Given the description of an element on the screen output the (x, y) to click on. 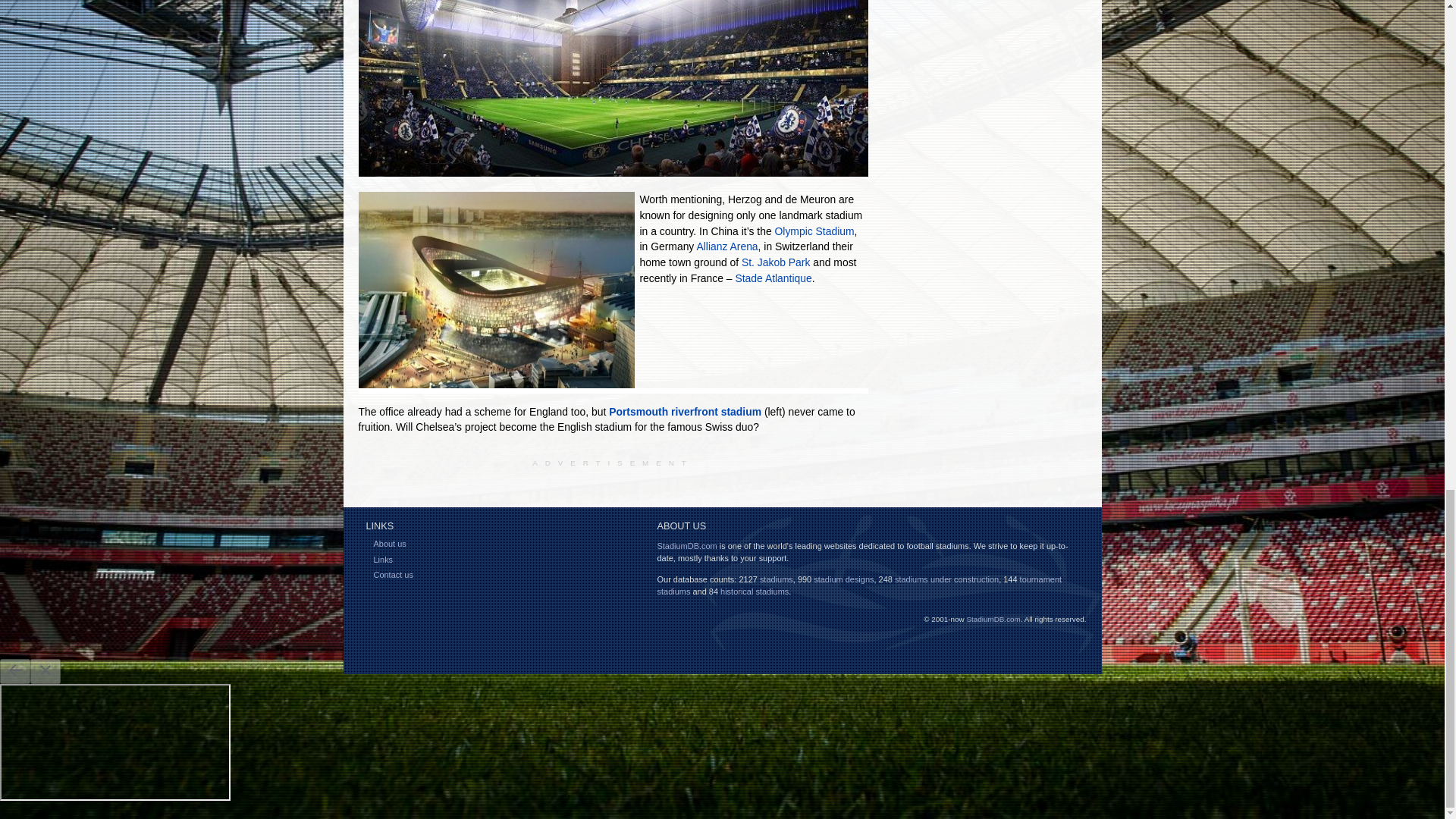
Stade Atlantique (772, 277)
St. Jakob Park (775, 262)
Portsmouth riverfront stadium (684, 411)
Olympic Stadium (814, 231)
Allianz Arena (726, 246)
